Given the description of an element on the screen output the (x, y) to click on. 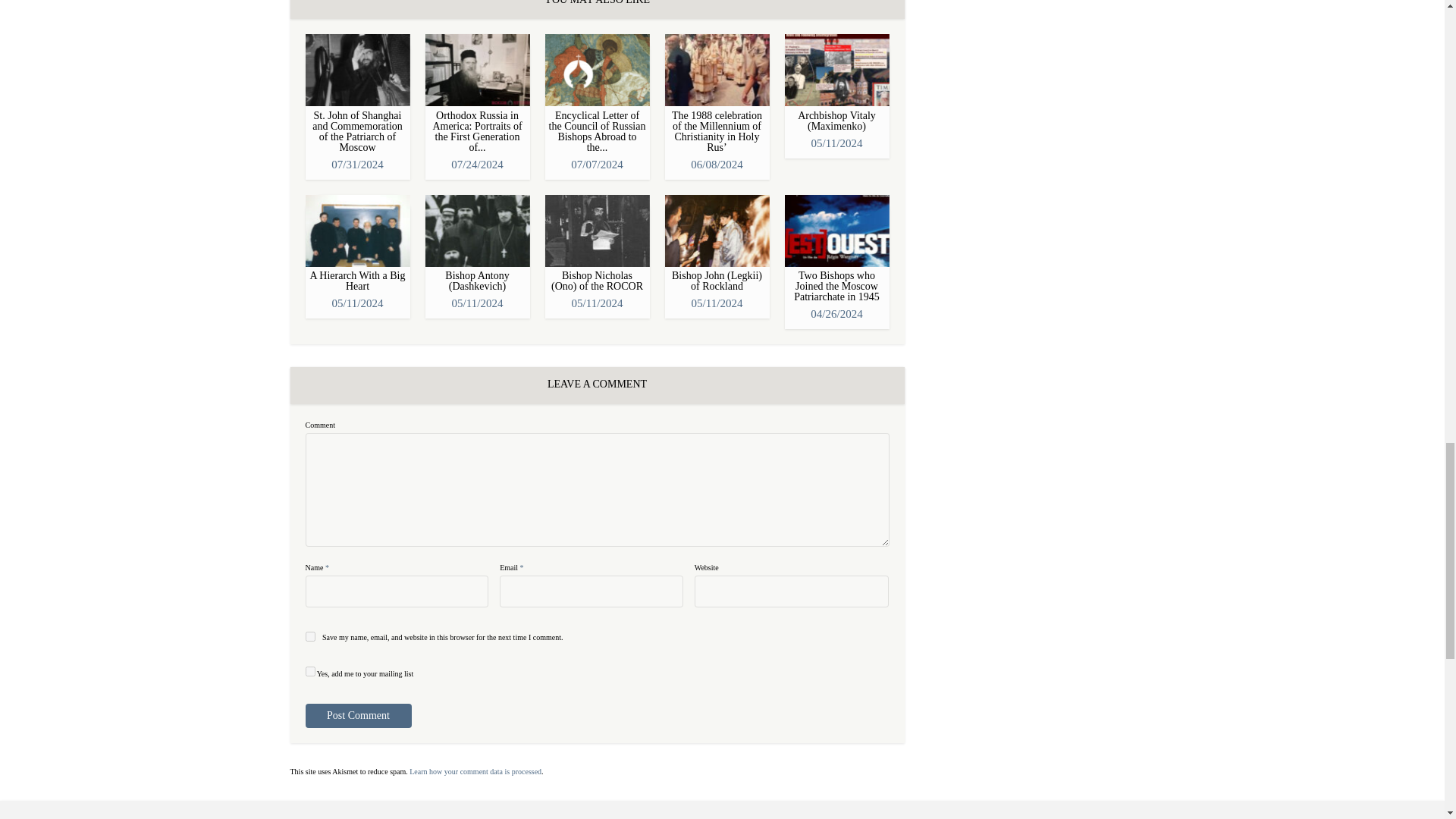
yes (309, 636)
Post Comment (357, 715)
1 (309, 671)
